Given the description of an element on the screen output the (x, y) to click on. 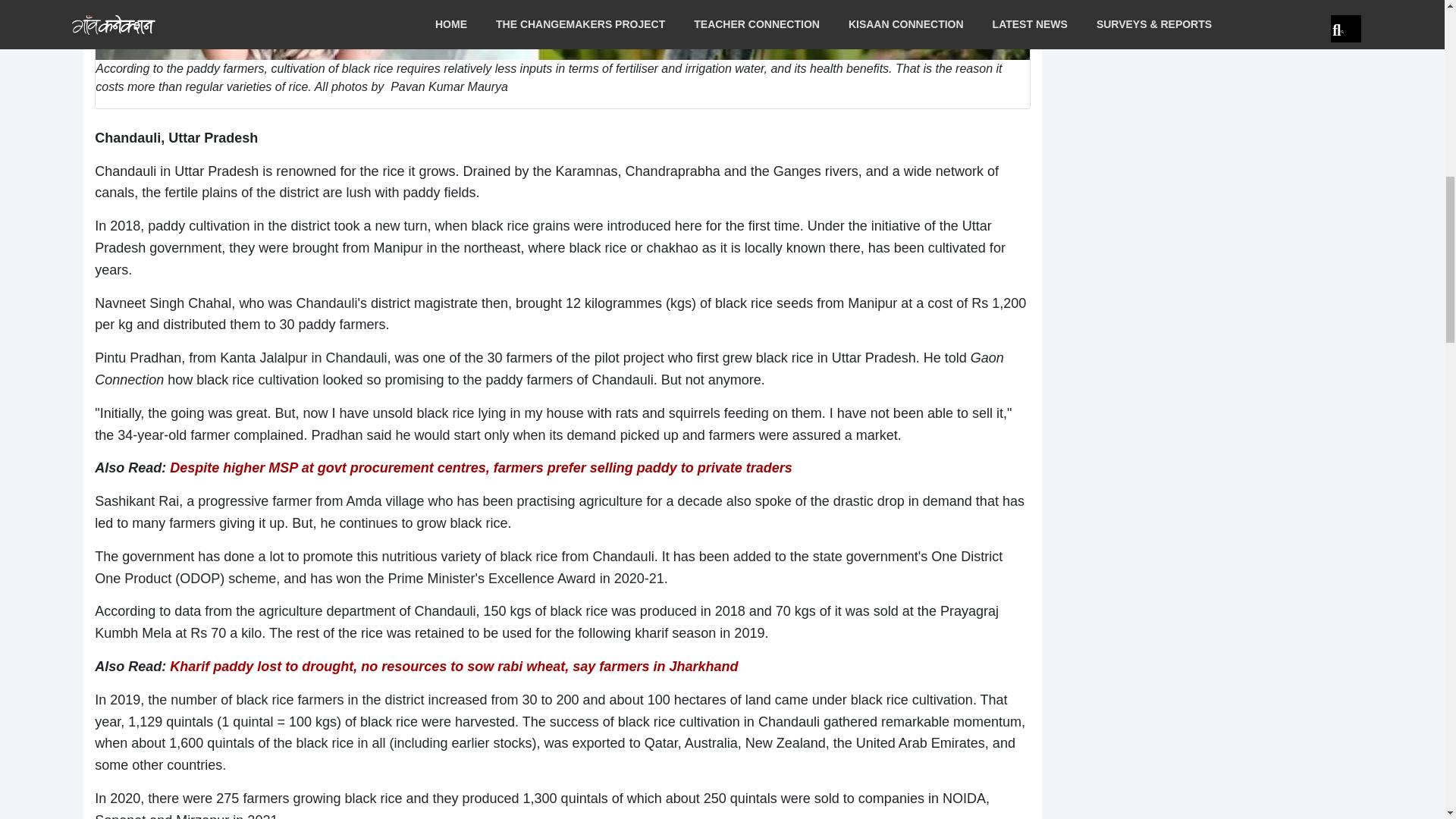
Black Rice Matters in Chandauli (562, 29)
